Given the description of an element on the screen output the (x, y) to click on. 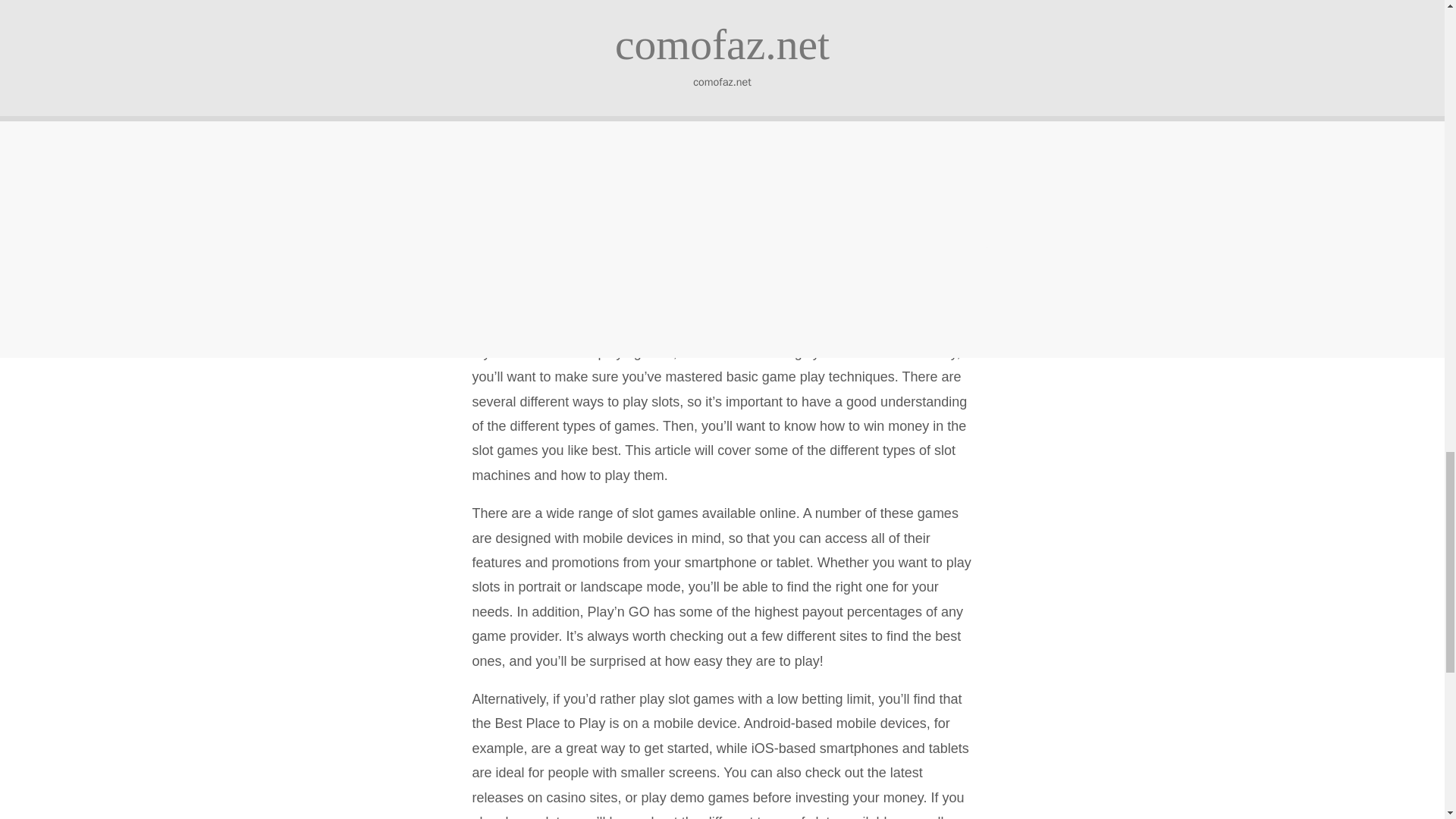
Previous post (682, 161)
WordPress (797, 331)
Next post (768, 161)
sciolism 2019 (711, 331)
Gambling (521, 55)
